Given the description of an element on the screen output the (x, y) to click on. 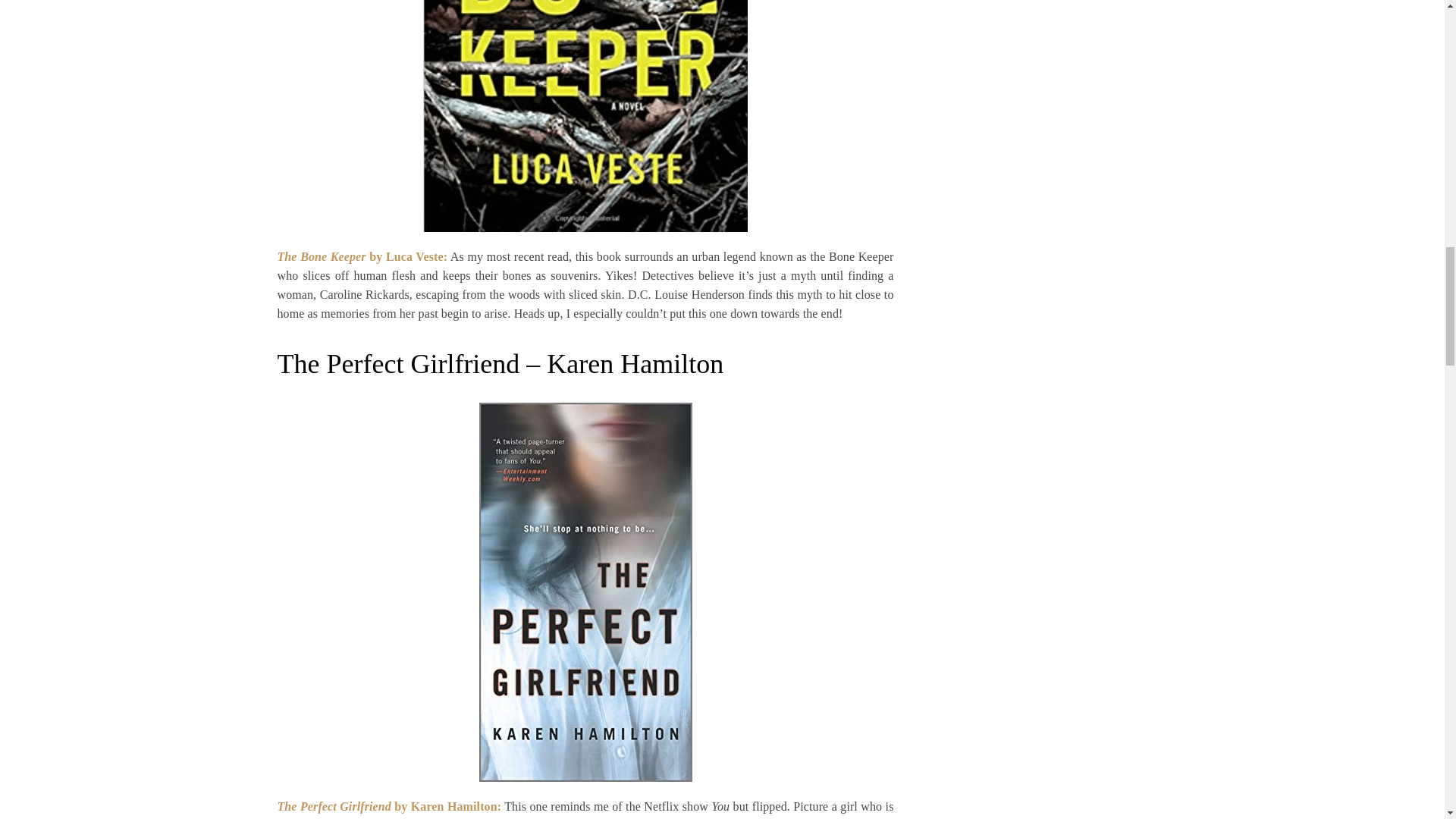
The Bone Keeper by Luca Veste: (363, 256)
The Perfect Girlfriend by Karen Hamilton: (390, 805)
